Given the description of an element on the screen output the (x, y) to click on. 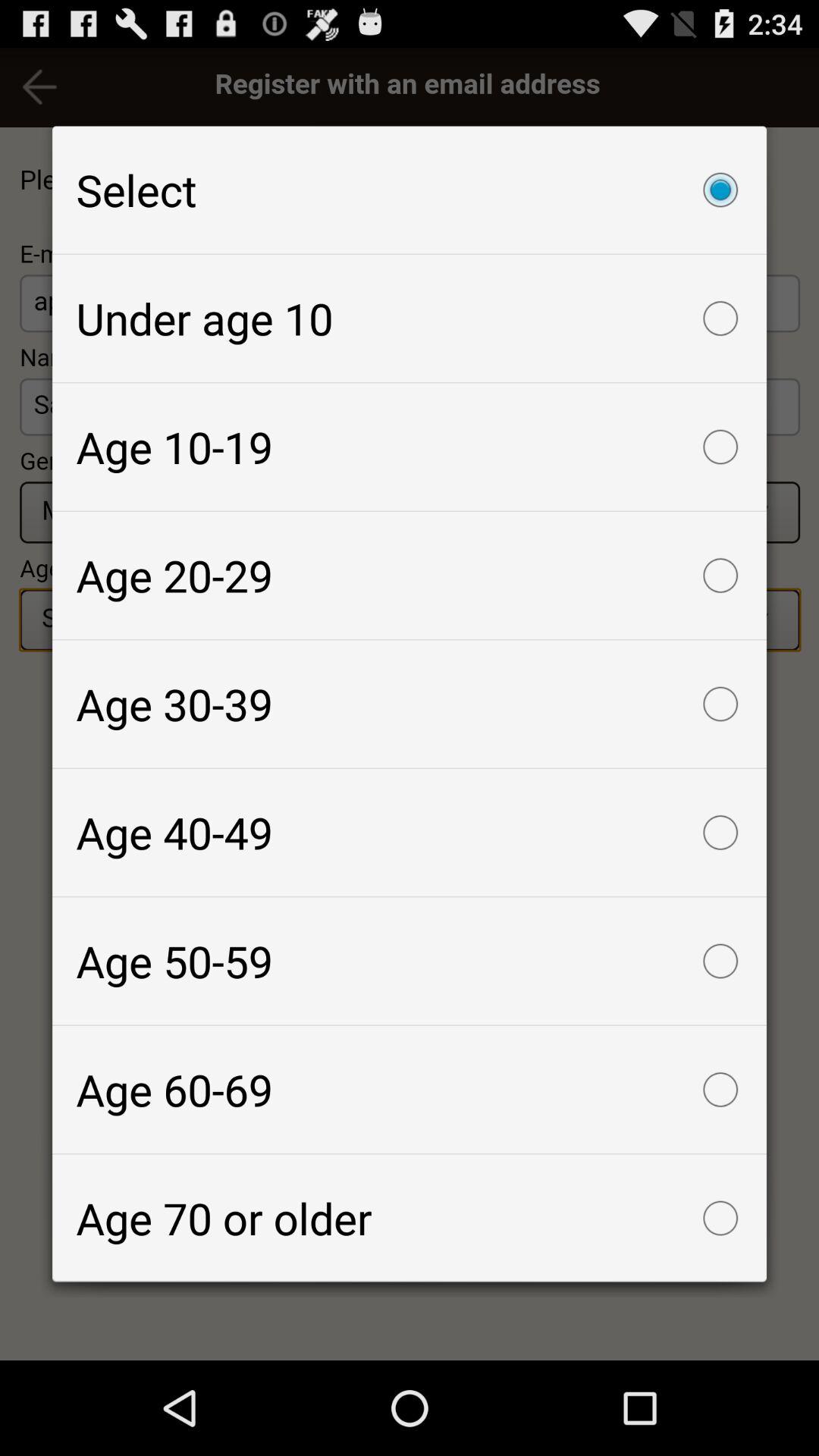
launch age 40-49 item (409, 832)
